Given the description of an element on the screen output the (x, y) to click on. 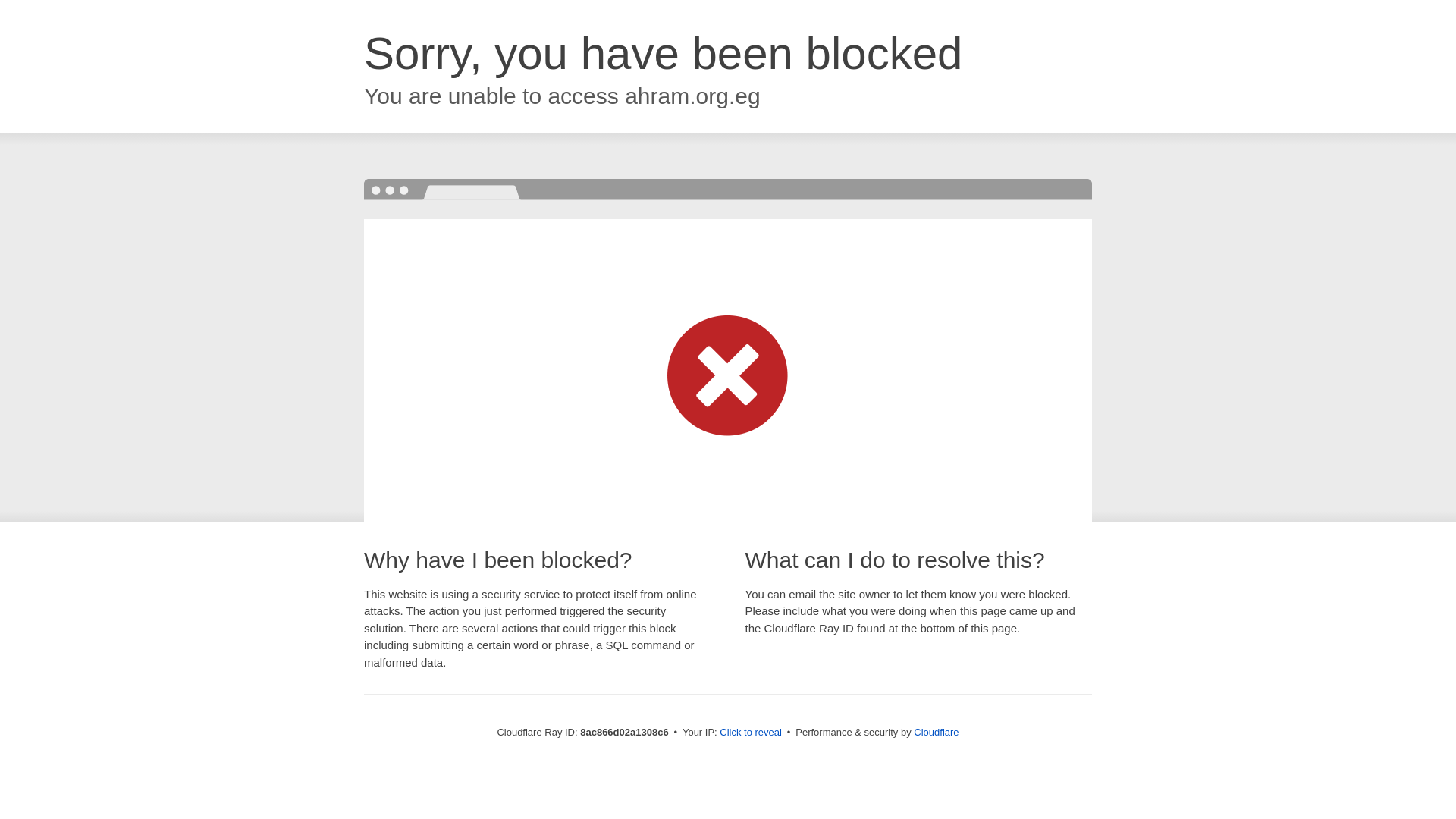
Click to reveal (750, 732)
Cloudflare (936, 731)
